Given the description of an element on the screen output the (x, y) to click on. 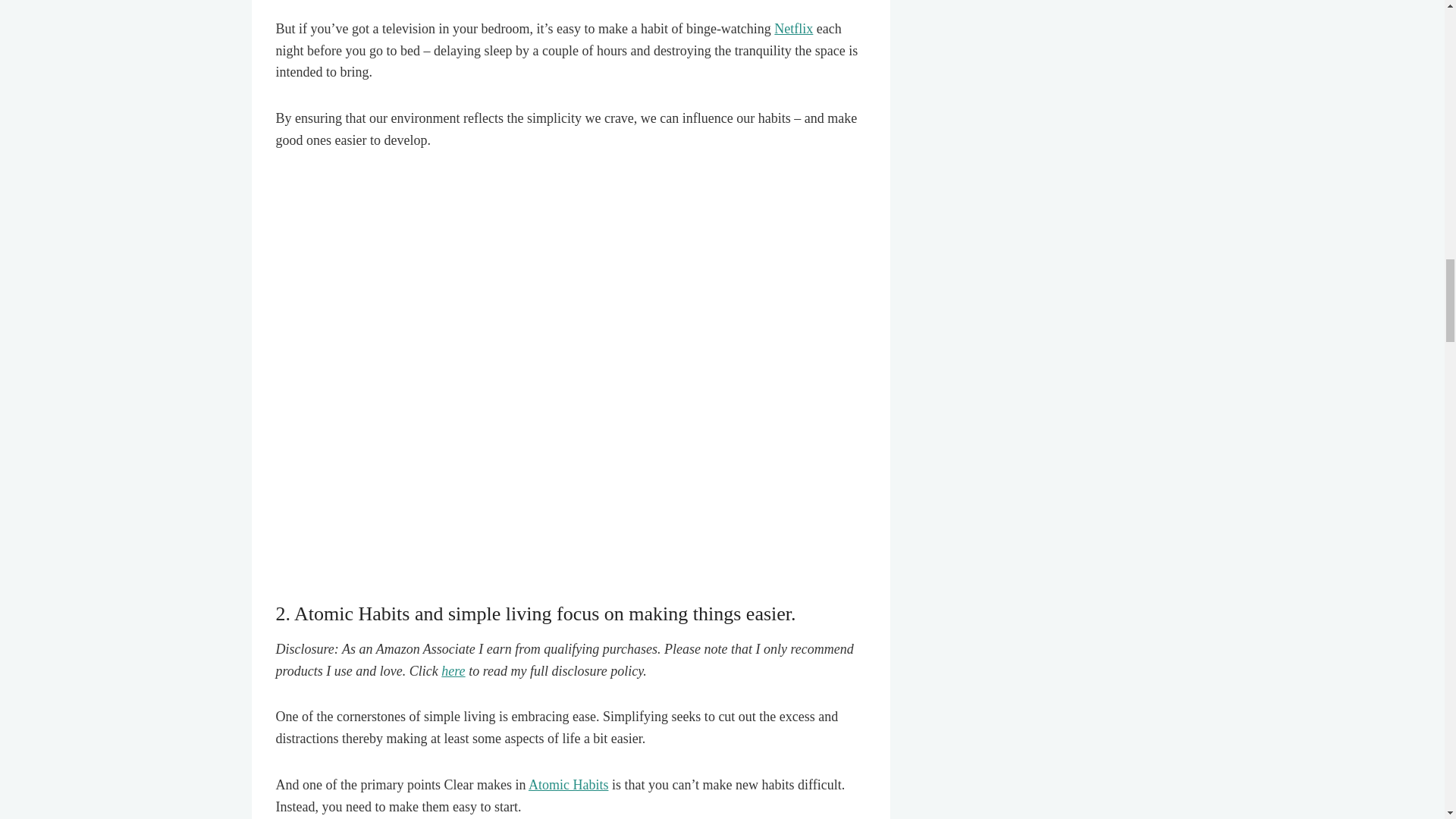
Atomic Habits (568, 784)
Netflix (793, 28)
here (452, 670)
